Given the description of an element on the screen output the (x, y) to click on. 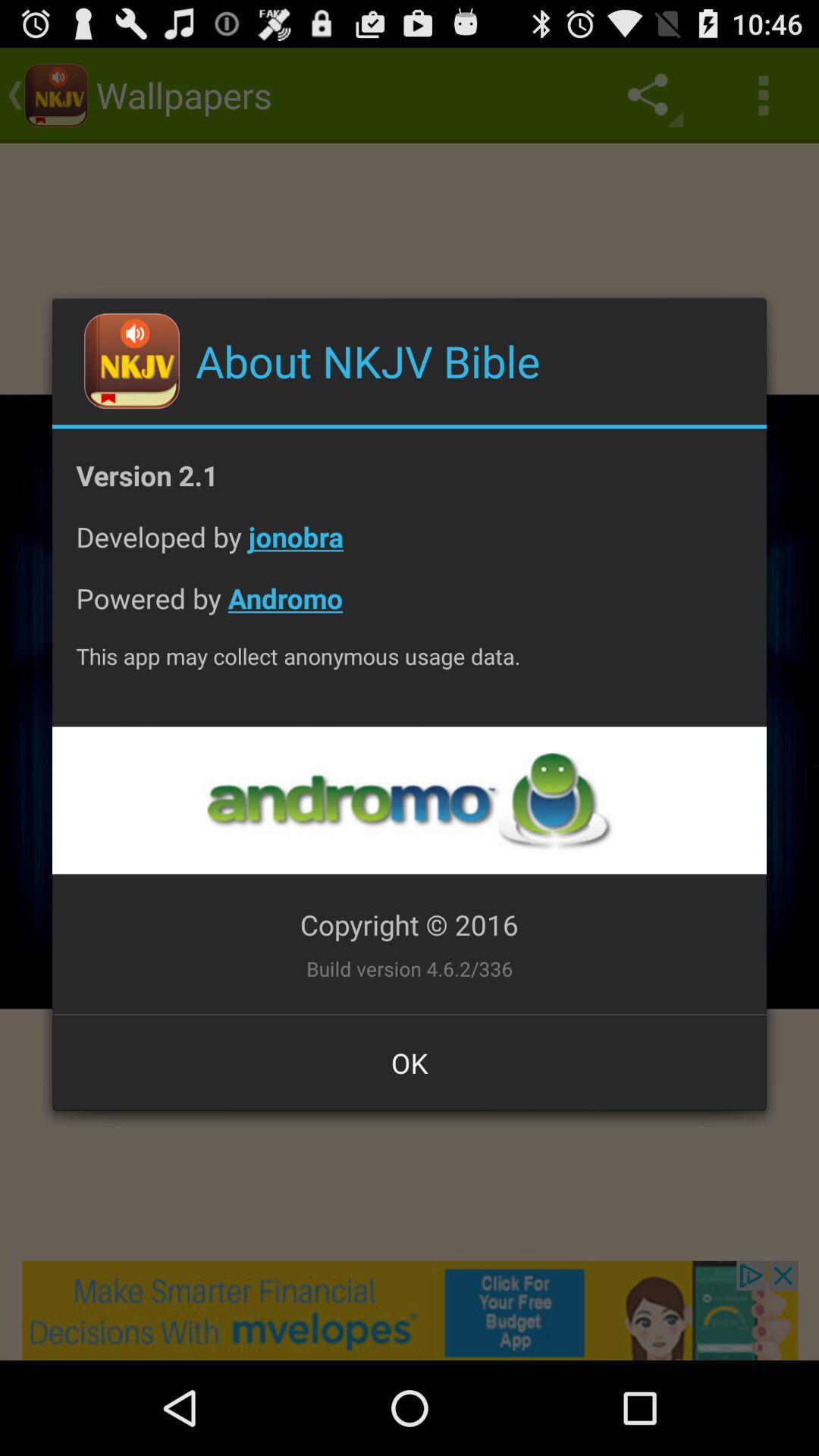
andromo logo to go to website (408, 800)
